Given the description of an element on the screen output the (x, y) to click on. 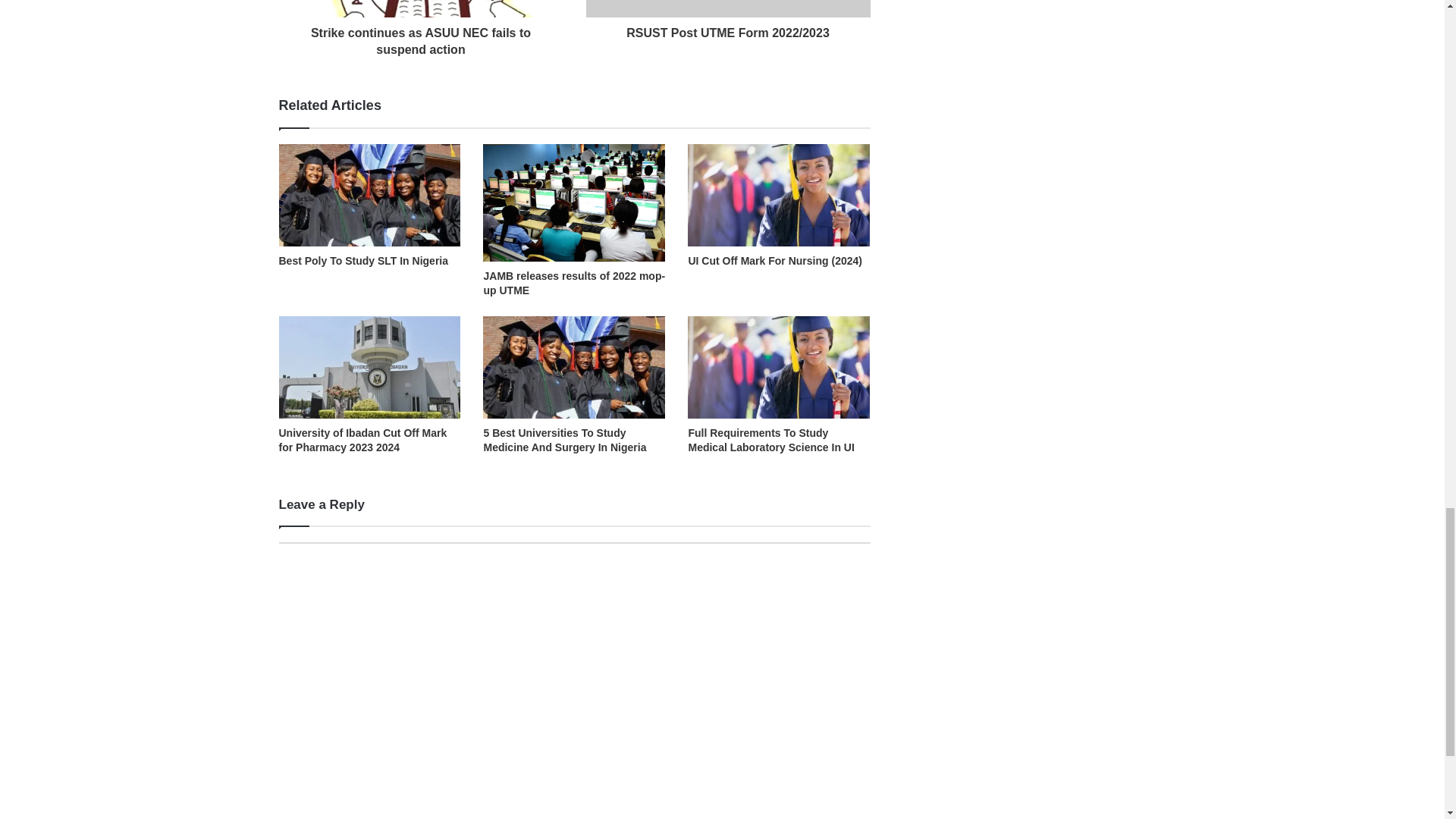
University of Ibadan Cut Off Mark for Pharmacy 2023 2024 (362, 439)
Strike continues as ASUU NEC fails to suspend action (421, 37)
JAMB releases results of 2022 mop-up UTME (574, 283)
Best Poly To Study SLT In Nigeria (363, 260)
Full Requirements To Study Medical Laboratory Science In UI (770, 439)
5 Best Universities To Study Medicine And Surgery In Nigeria (564, 439)
